Given the description of an element on the screen output the (x, y) to click on. 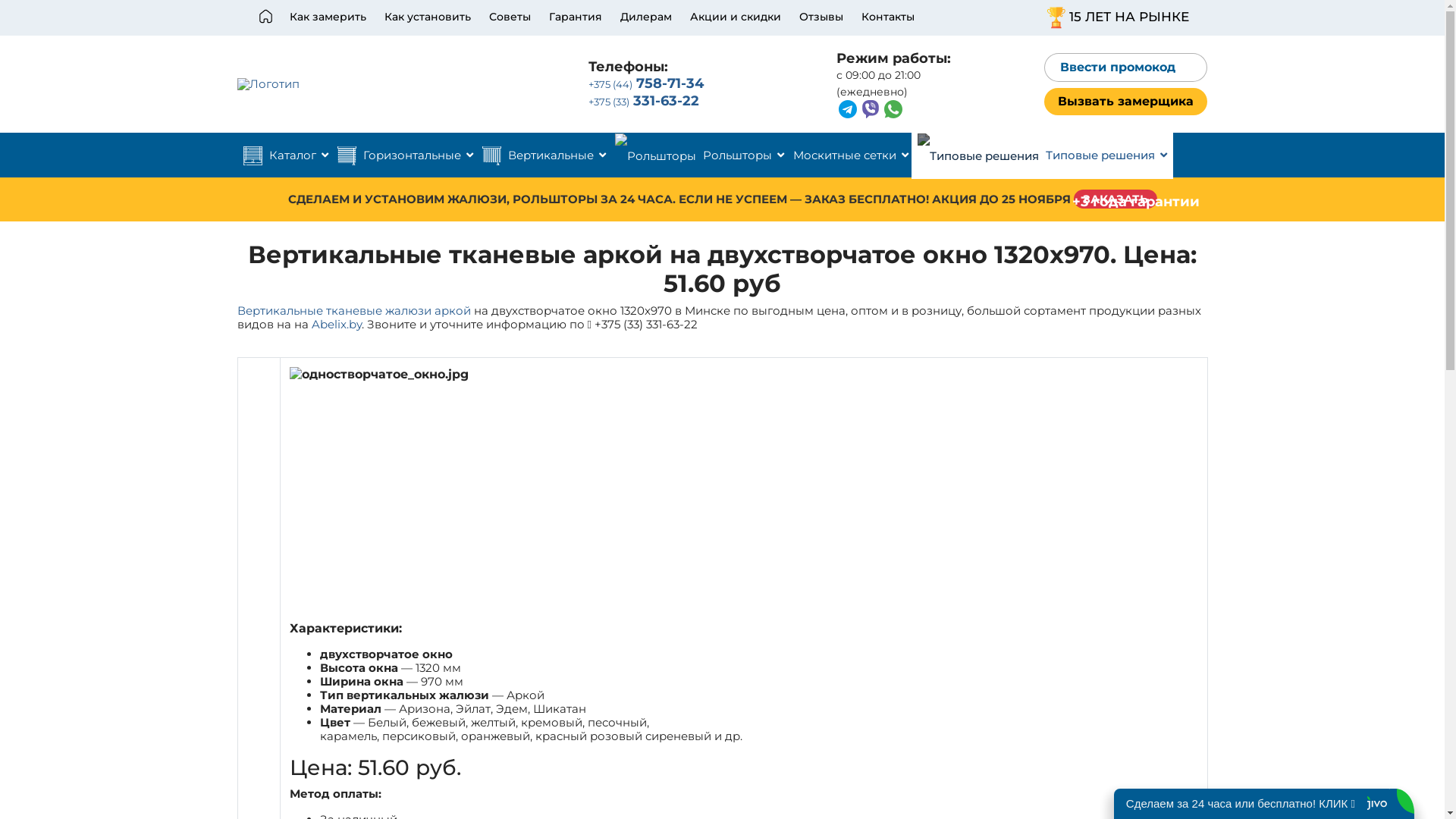
Abelix.by Element type: text (335, 323)
+375 (44) 758-71-34 Element type: text (645, 82)
+375 (33) 331-63-22 Element type: text (643, 100)
